Given the description of an element on the screen output the (x, y) to click on. 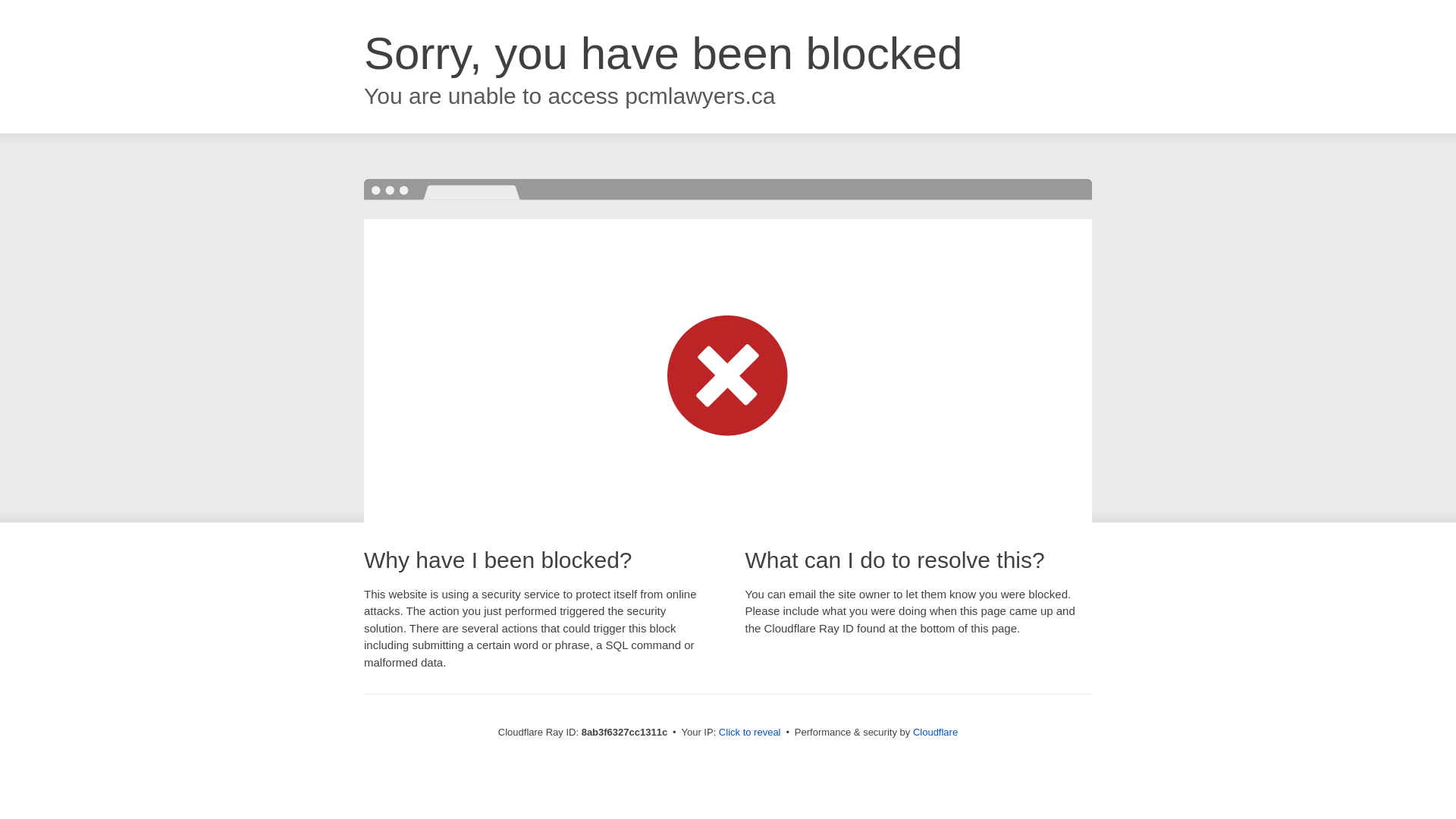
Cloudflare (935, 731)
Click to reveal (749, 732)
